Given the description of an element on the screen output the (x, y) to click on. 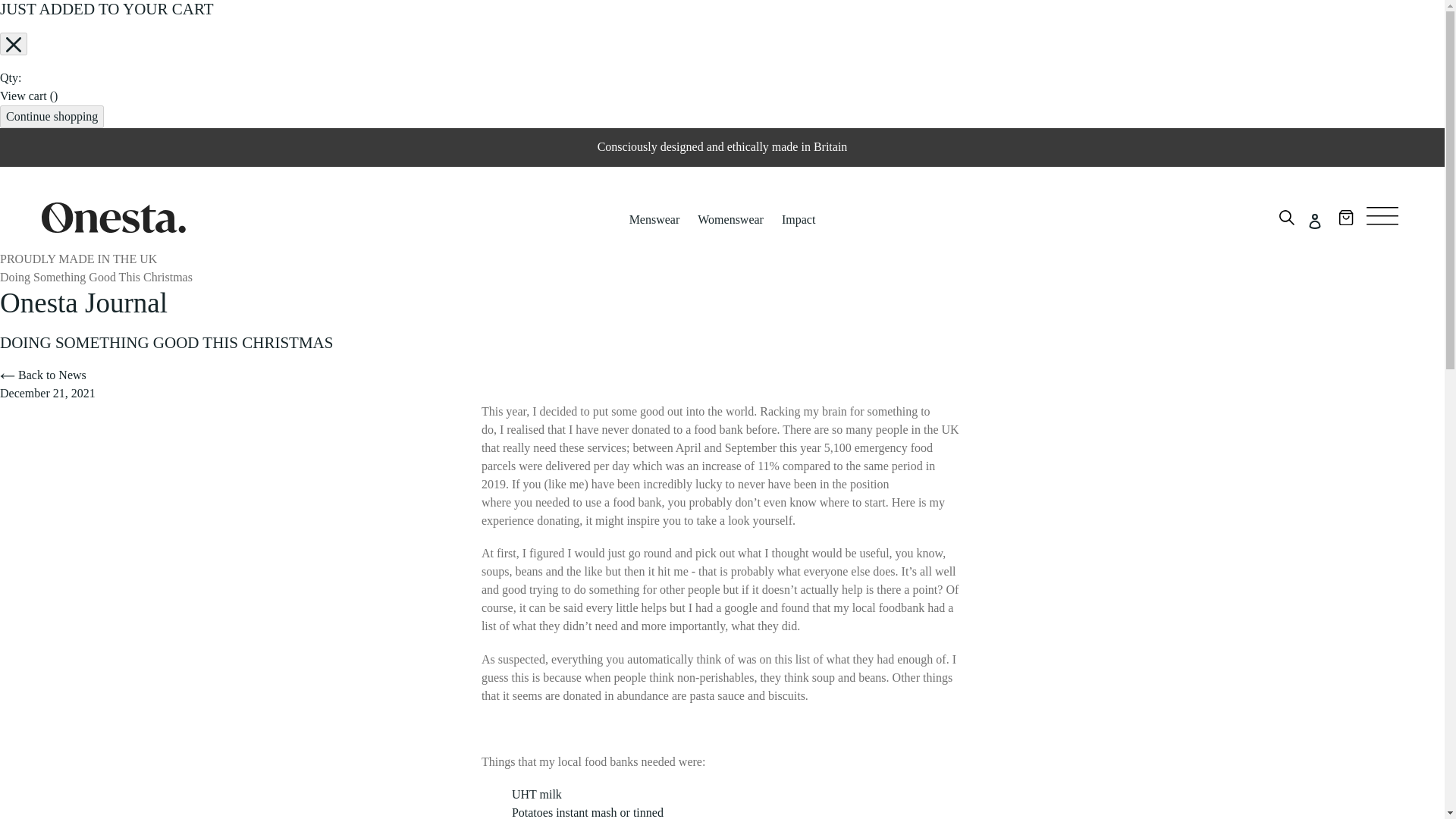
Log in (1314, 219)
Menswear (654, 219)
Impact (798, 219)
Continue shopping (51, 116)
Womenswear (730, 219)
Search (1286, 219)
Back to News (42, 374)
